Given the description of an element on the screen output the (x, y) to click on. 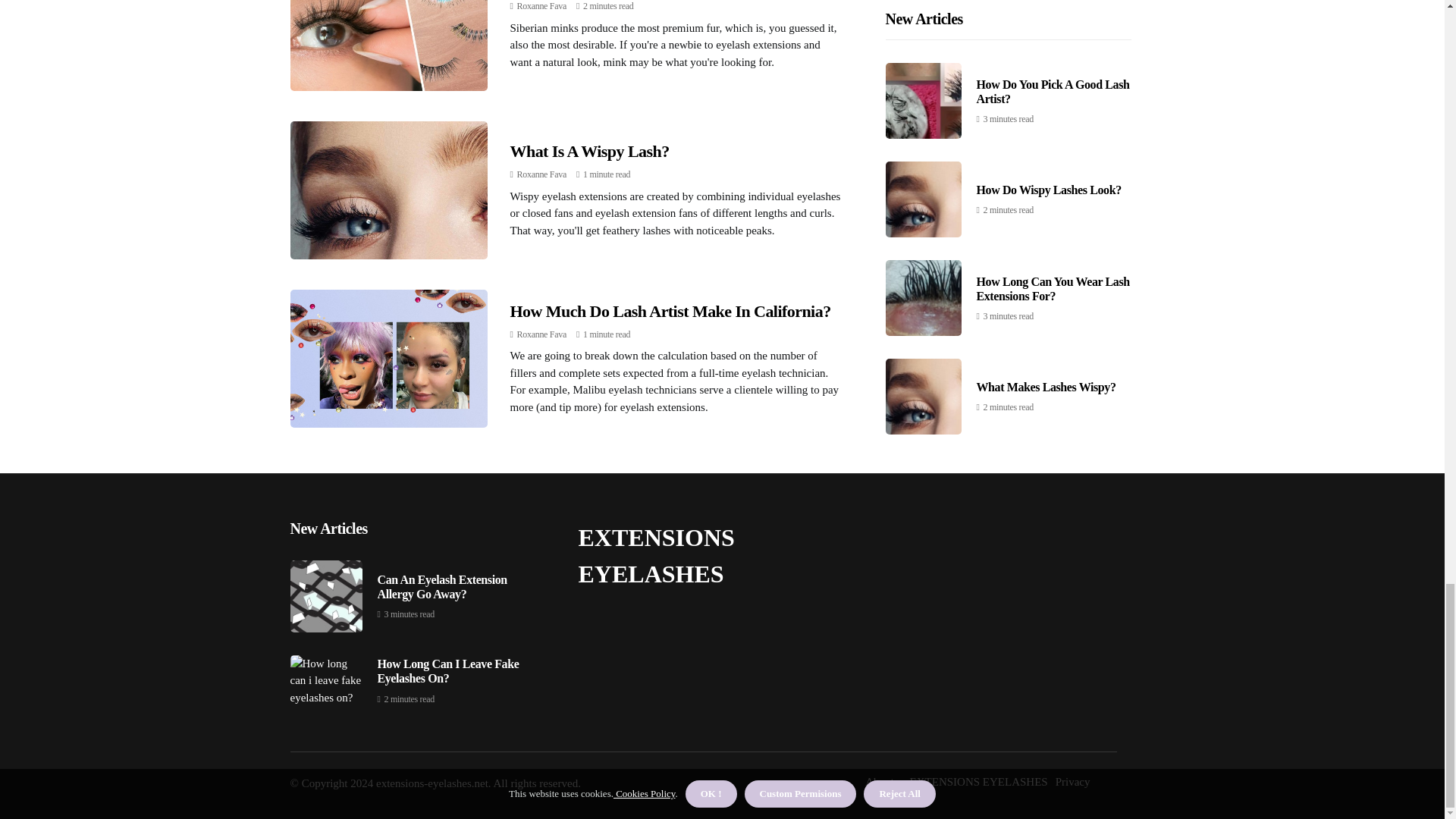
Roxanne Fava (541, 173)
What Is A Wispy Lash? (588, 150)
Posts by Roxanne Fava (541, 173)
How Much Do Lash Artist Make In California? (669, 311)
Posts by Roxanne Fava (541, 5)
Roxanne Fava (541, 5)
Posts by Roxanne Fava (541, 334)
Roxanne Fava (541, 334)
